Given the description of an element on the screen output the (x, y) to click on. 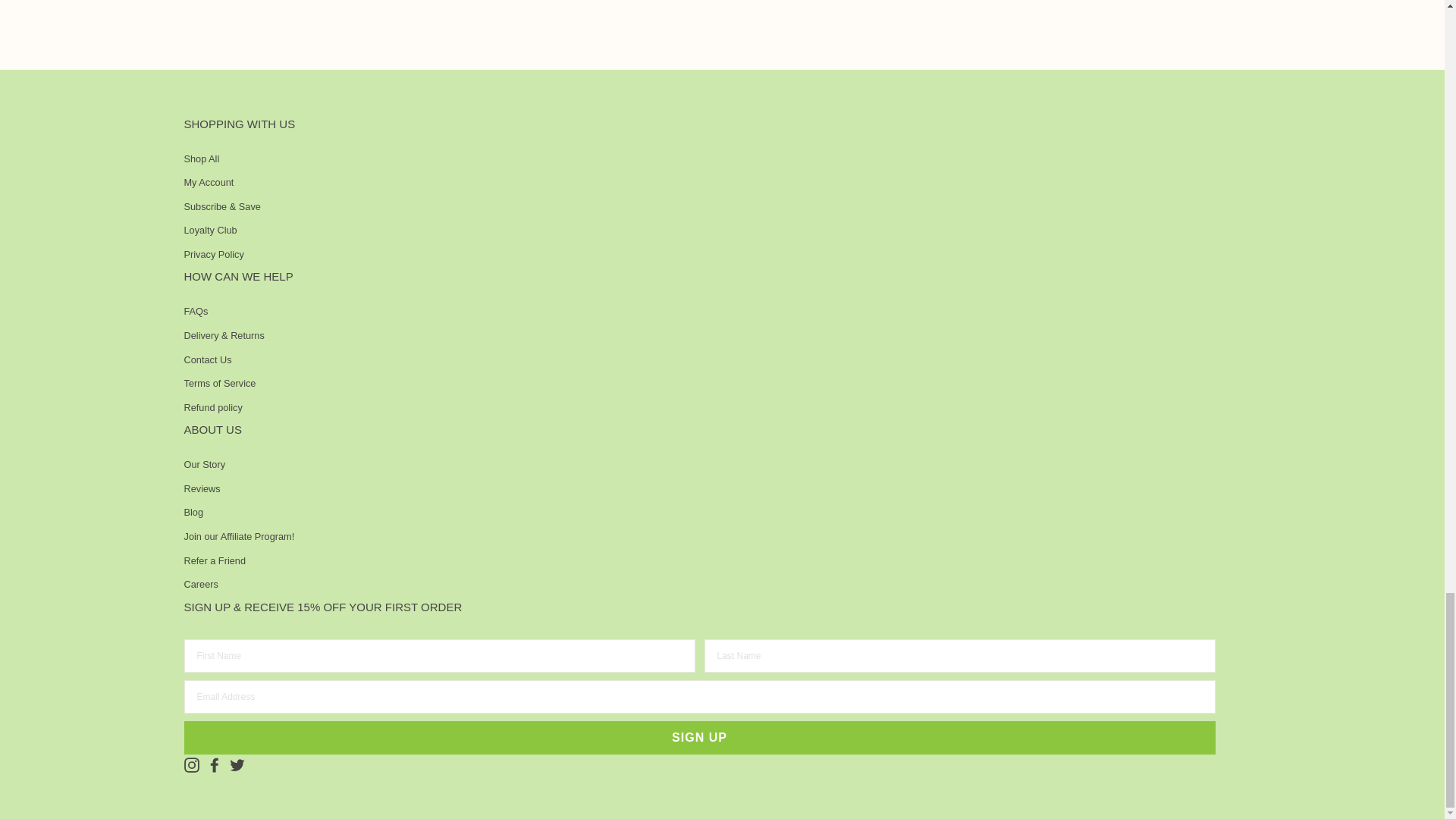
BodyMe on Instagram (190, 763)
BodyMe on Facebook (213, 763)
BodyMe on Twitter (236, 763)
